Given the description of an element on the screen output the (x, y) to click on. 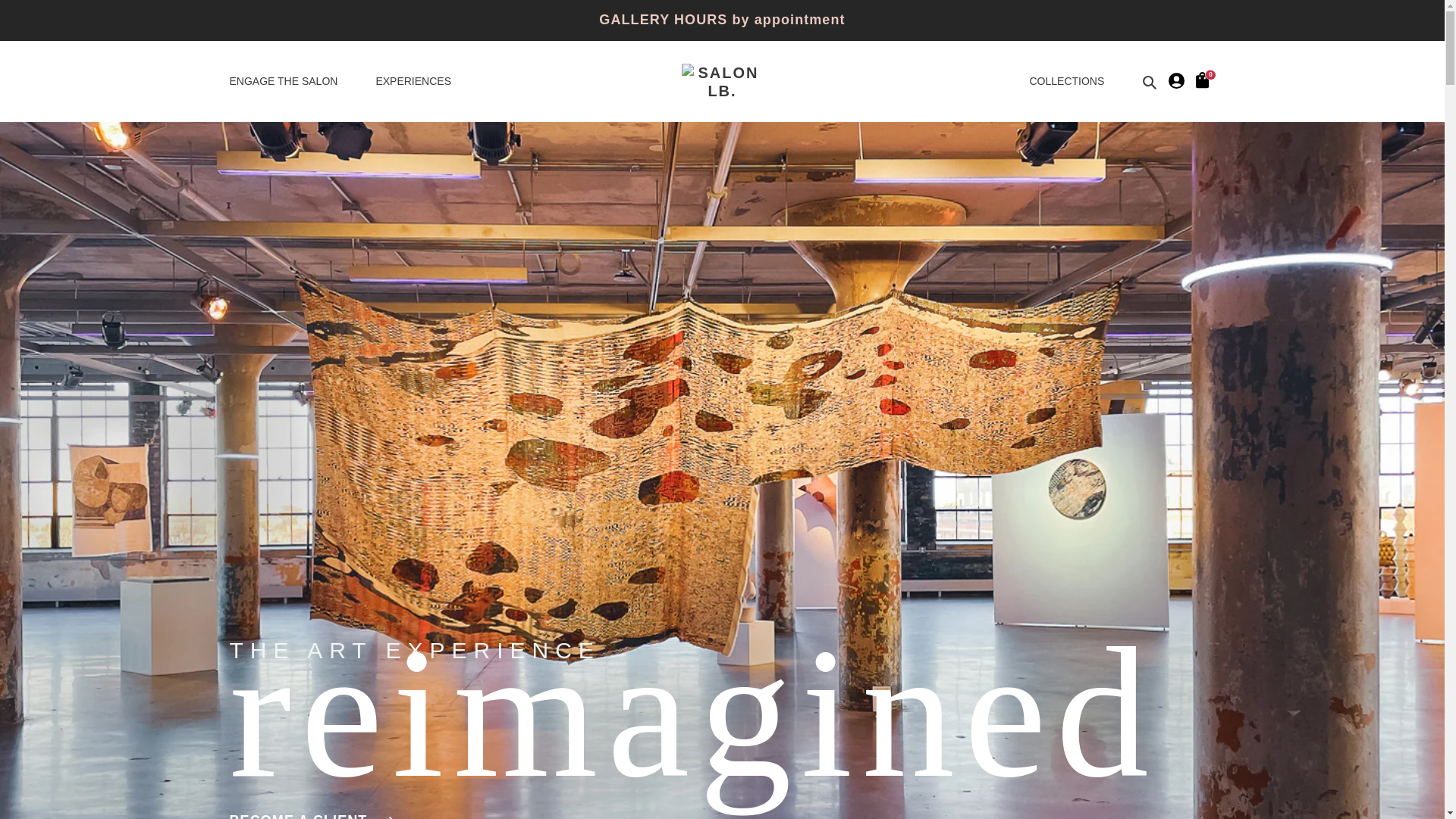
COLLECTIONS (1066, 81)
BECOME A CLIENT (311, 816)
ENGAGE THE SALON (292, 81)
1 (1204, 78)
EXPERIENCES (413, 81)
